Given the description of an element on the screen output the (x, y) to click on. 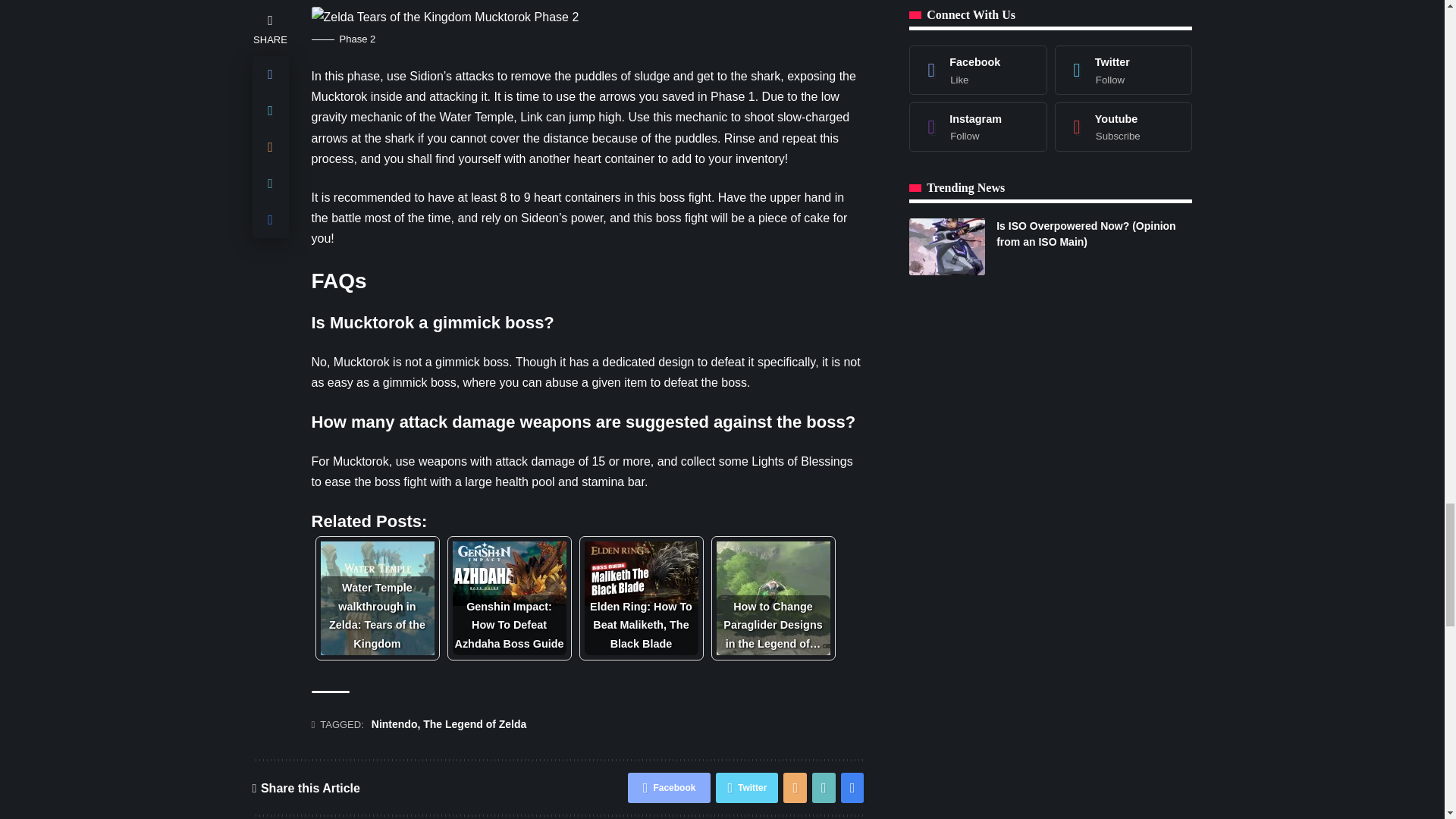
Water Temple walkthrough in Zelda: Tears of the Kingdom (376, 598)
Elden Ring: How To Beat Maliketh, The Black Blade (640, 573)
Genshin Impact: How To Defeat Azhdaha Boss Guide (508, 573)
